Given the description of an element on the screen output the (x, y) to click on. 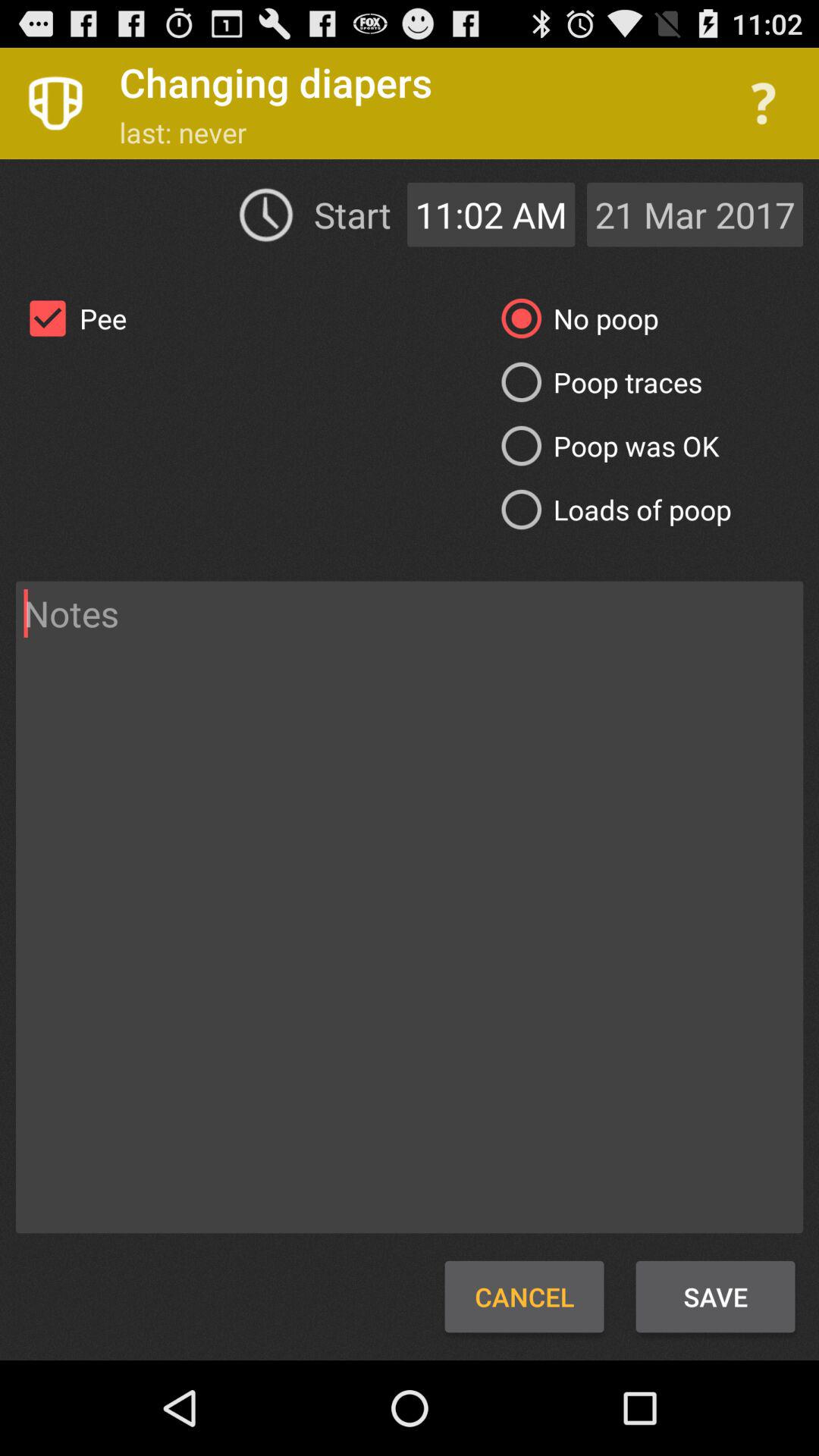
scroll until save (715, 1296)
